Given the description of an element on the screen output the (x, y) to click on. 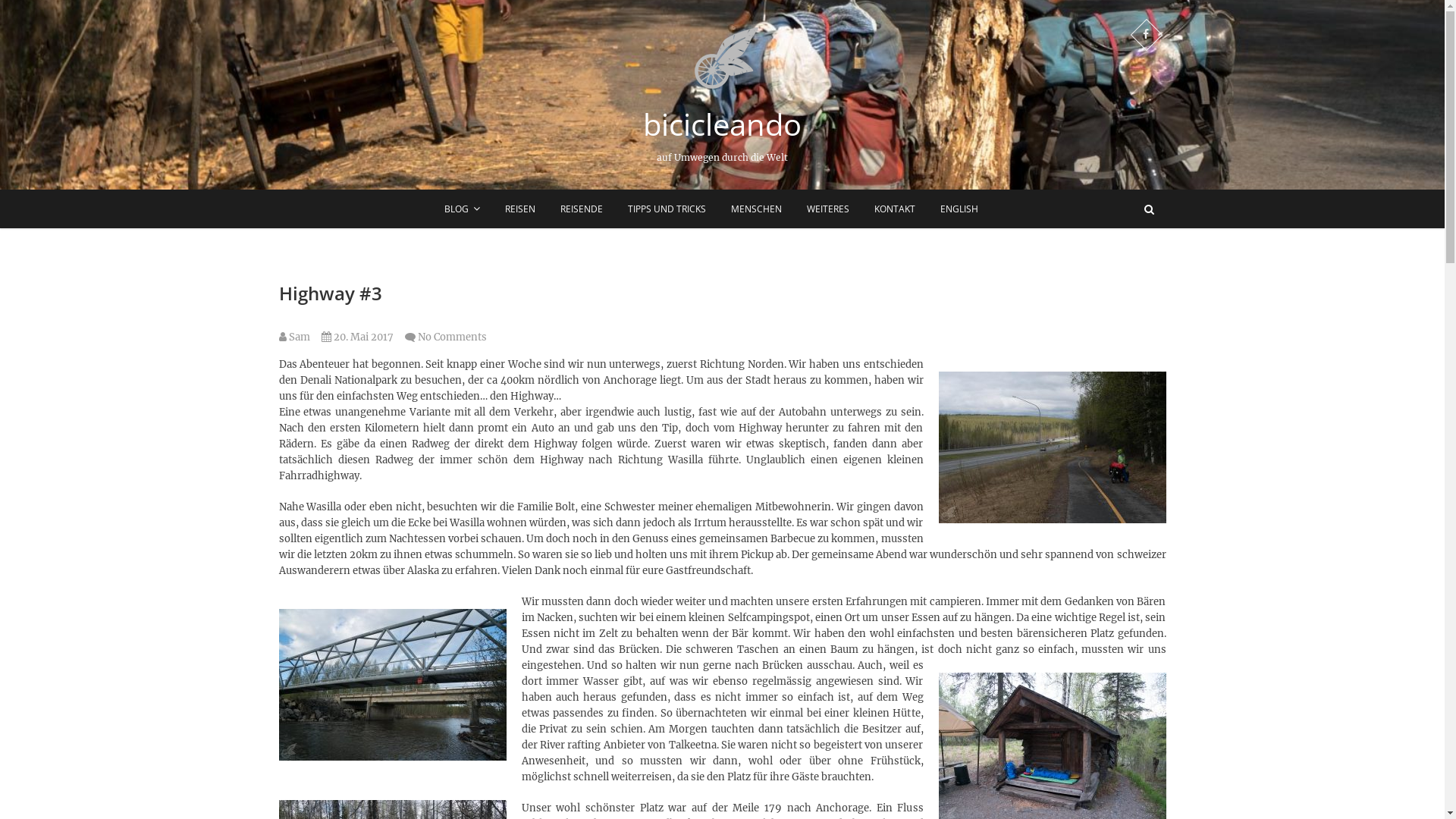
bicicleando Element type: text (721, 124)
WEITERES Element type: text (826, 208)
20. Mai 2017 Element type: text (357, 336)
No Comments Element type: text (451, 336)
REISENDE Element type: text (581, 208)
KONTAKT Element type: text (894, 208)
TIPPS UND TRICKS Element type: text (665, 208)
ENGLISH Element type: text (958, 208)
REISEN Element type: text (519, 208)
BLOG Element type: text (461, 208)
MENSCHEN Element type: text (755, 208)
Sam Element type: text (294, 336)
